Given the description of an element on the screen output the (x, y) to click on. 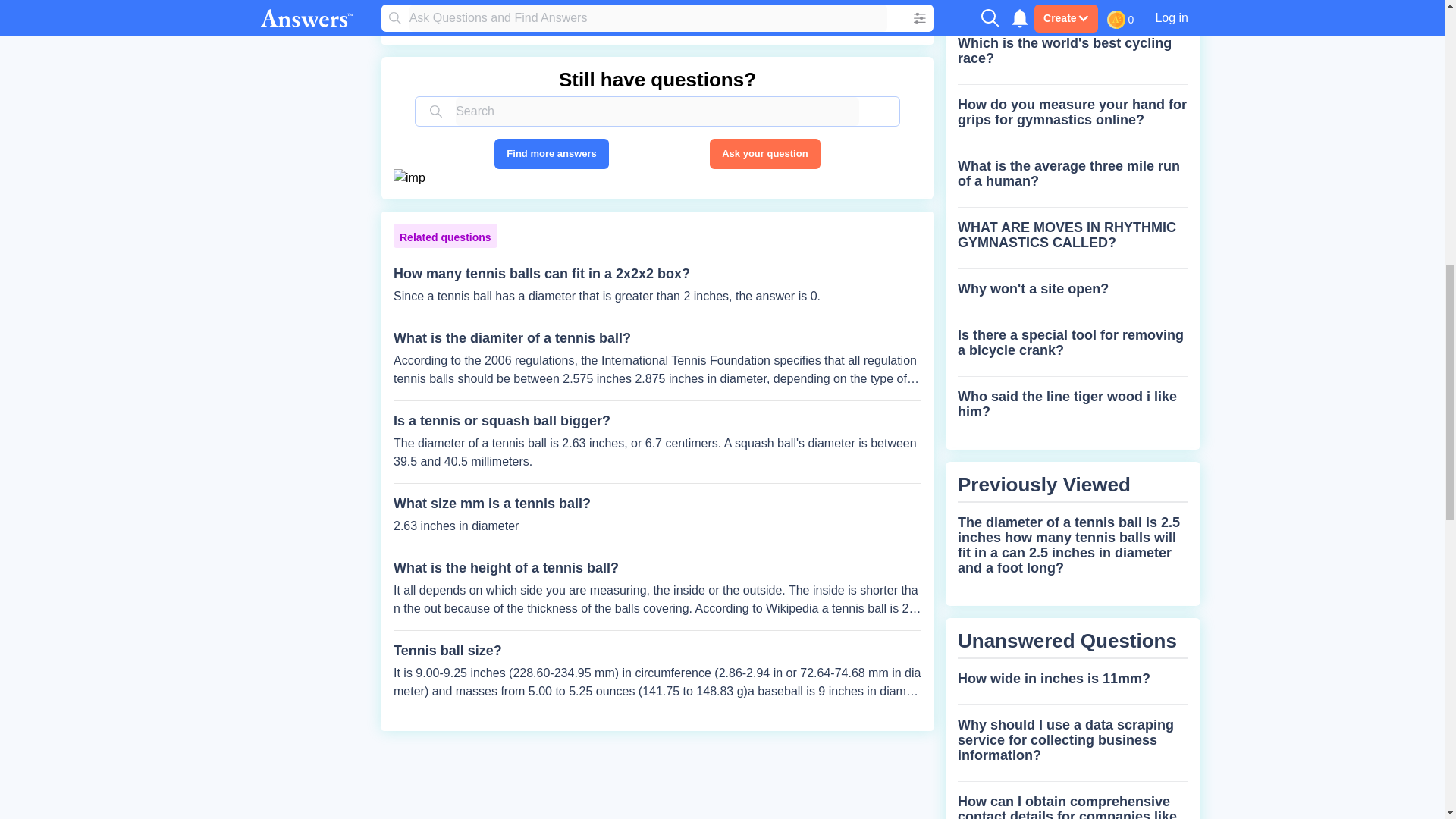
Ask your question (764, 153)
Find more answers (551, 153)
